Given the description of an element on the screen output the (x, y) to click on. 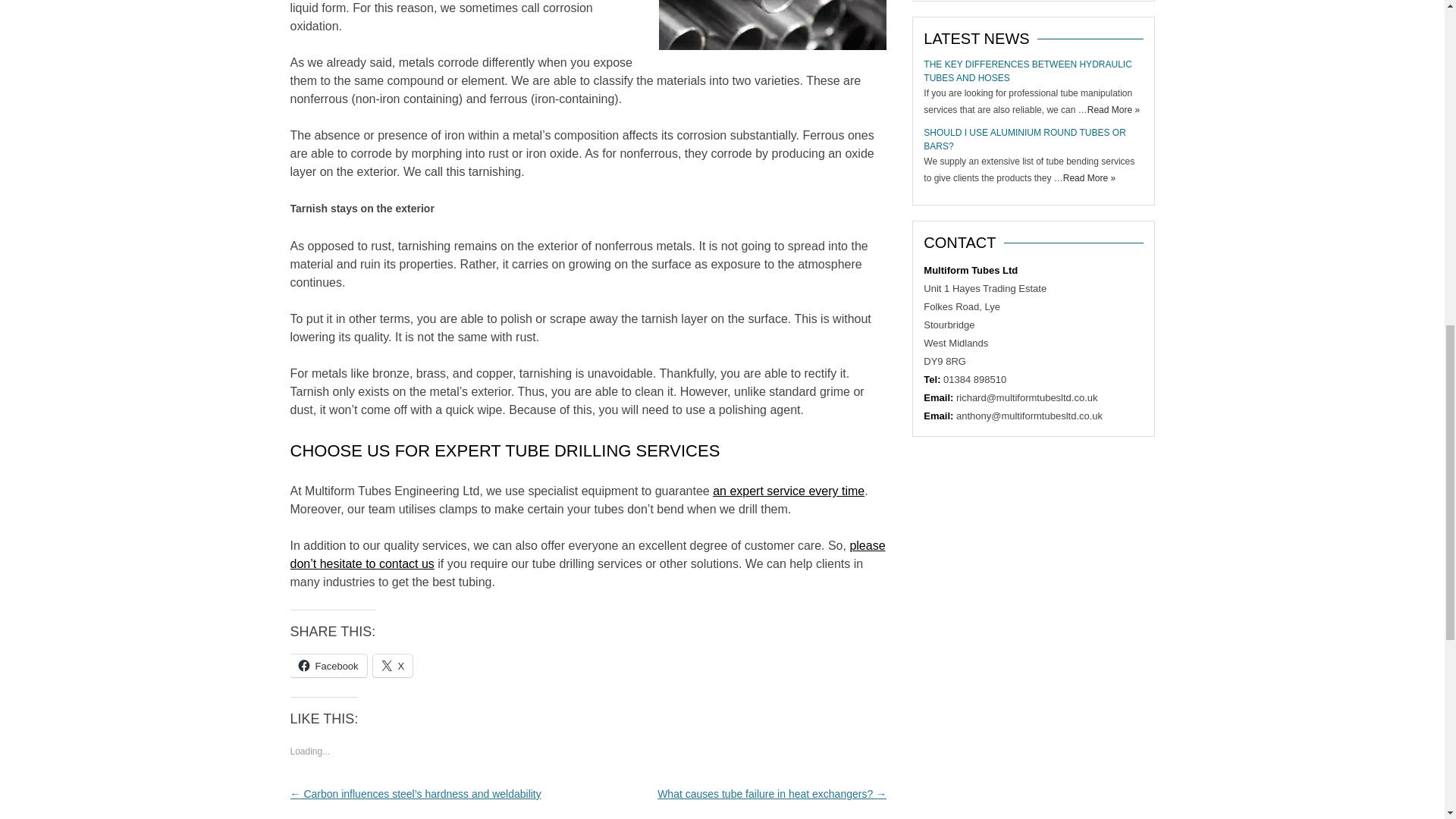
X (392, 665)
Facebook (327, 665)
Permalink to Should I use aluminium round tubes or bars? (1024, 139)
Click to share on X (392, 665)
an expert service every time (788, 490)
Click to share on Facebook (327, 665)
